Given the description of an element on the screen output the (x, y) to click on. 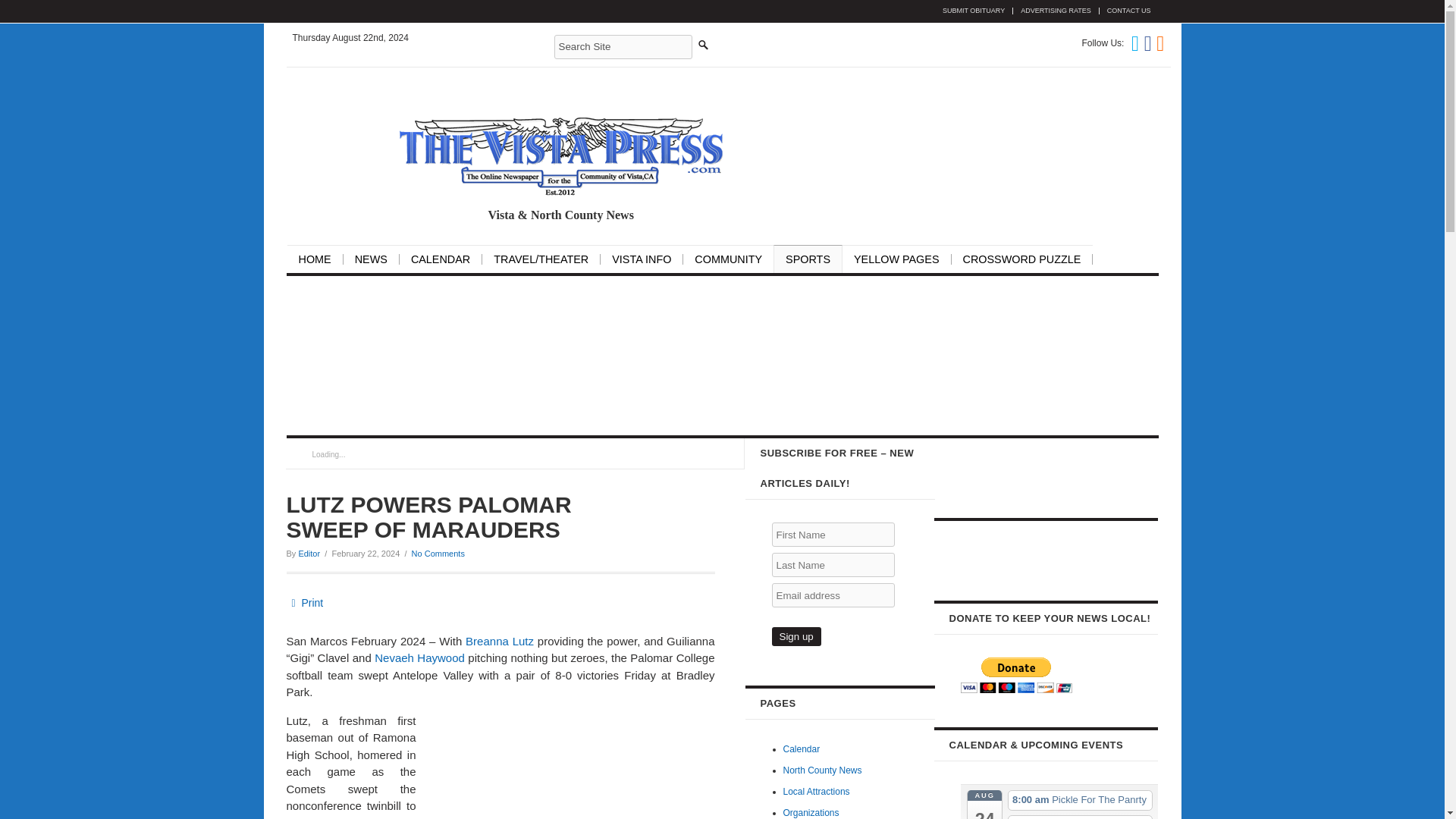
Search Site (622, 46)
CONTACT US (1125, 10)
Nevaeh Haywood (419, 657)
TRAVEL (546, 258)
Breanna Lutz (499, 640)
ADVERTISING RATES (1050, 10)
Editor (309, 552)
CALENDAR (445, 258)
No Comments (438, 552)
Sign up (796, 636)
